Given the description of an element on the screen output the (x, y) to click on. 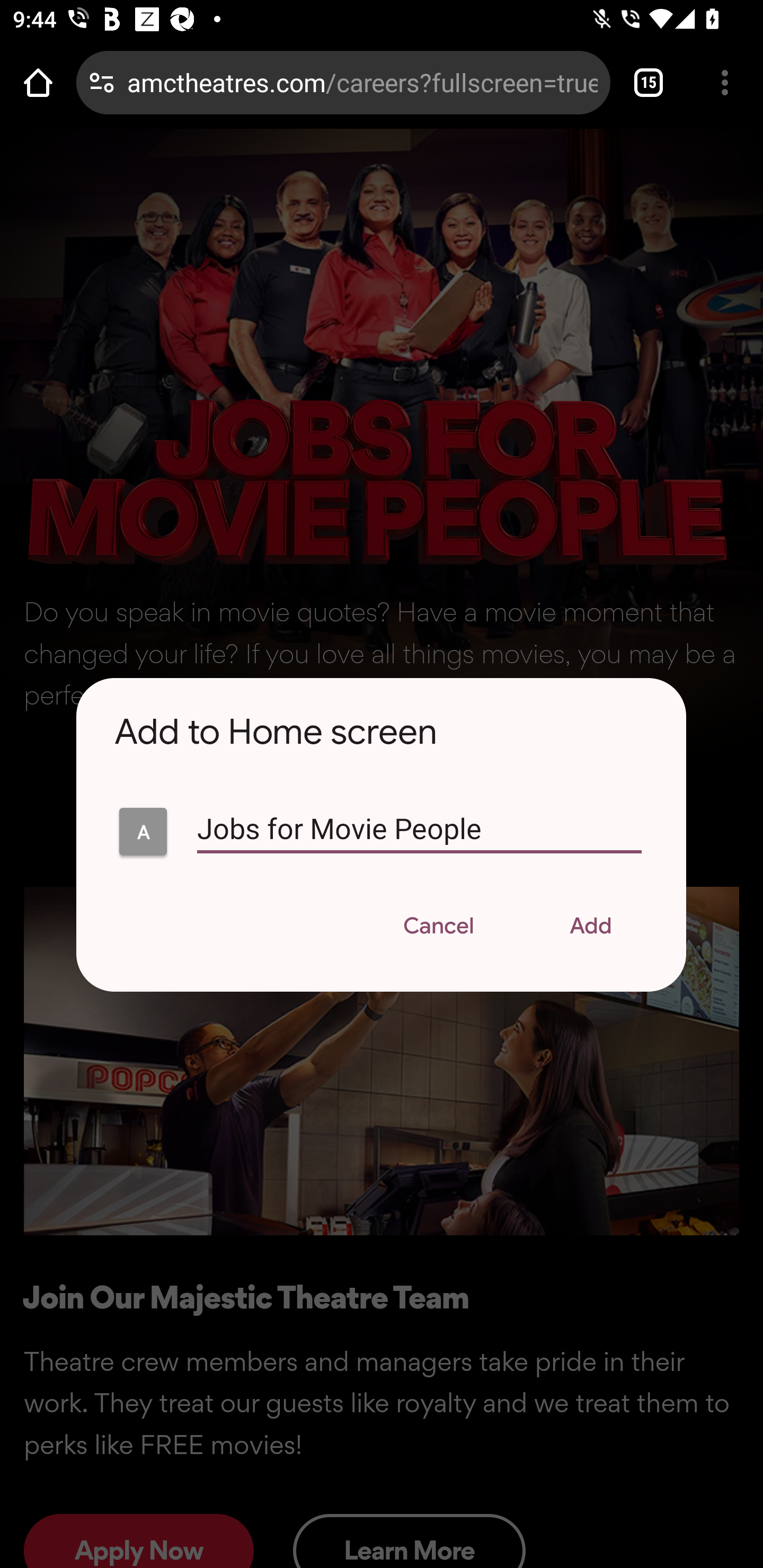
Open the home page (38, 82)
Connection is secure (101, 82)
Switch or close tabs (648, 82)
Customize and control Google Chrome (724, 82)
Jobs for Movie People (142, 831)
Jobs for Movie People (418, 836)
Cancel (438, 927)
Add (590, 927)
